Given the description of an element on the screen output the (x, y) to click on. 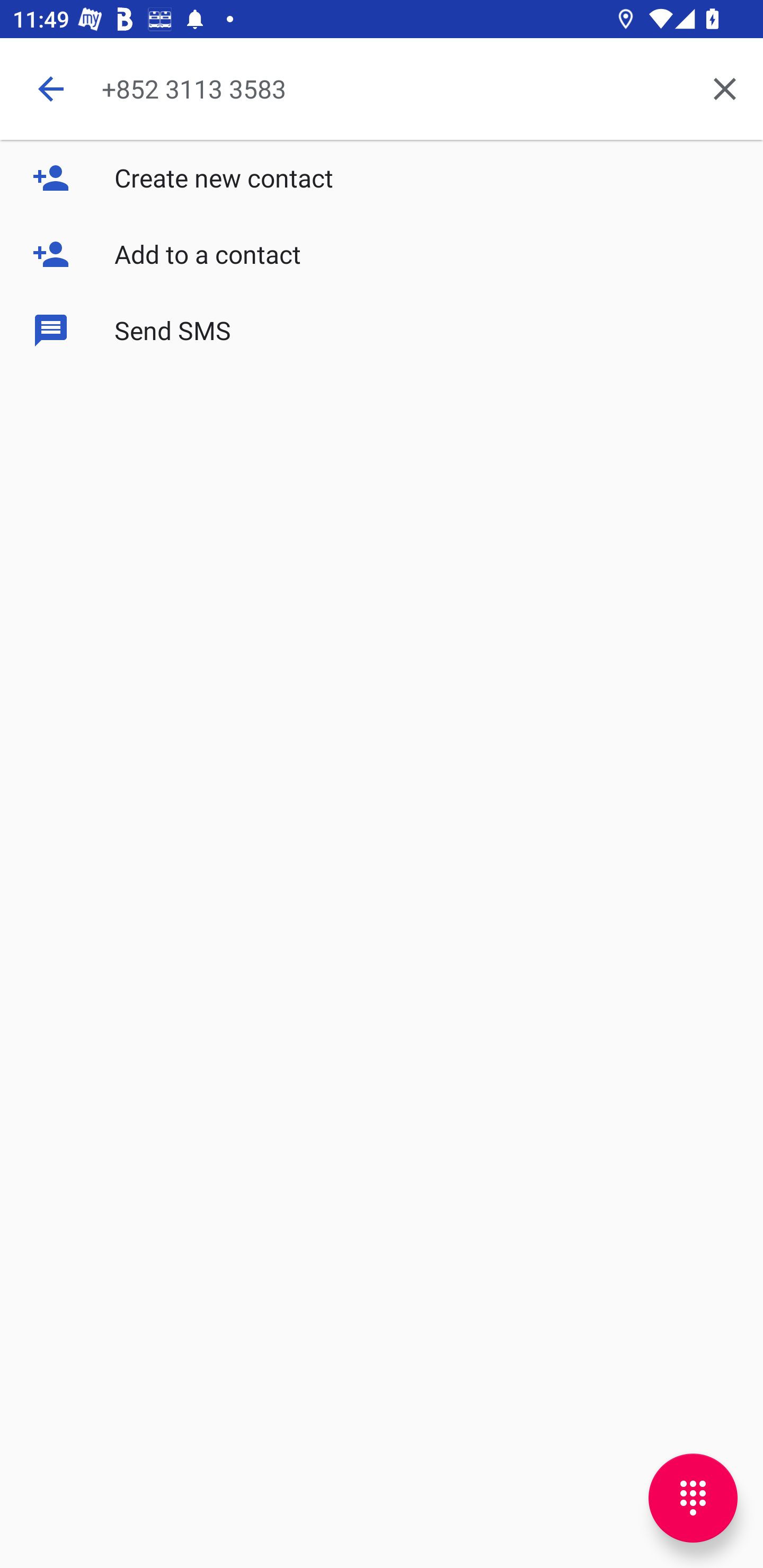
stop searching (50, 88)
+852 3113 3583 (393, 88)
Clear search (724, 88)
Create new contact (381, 177)
Add to a contact (381, 253)
Quick contact for +918069807777233 (70, 265)
Send SMS (381, 329)
